Given the description of an element on the screen output the (x, y) to click on. 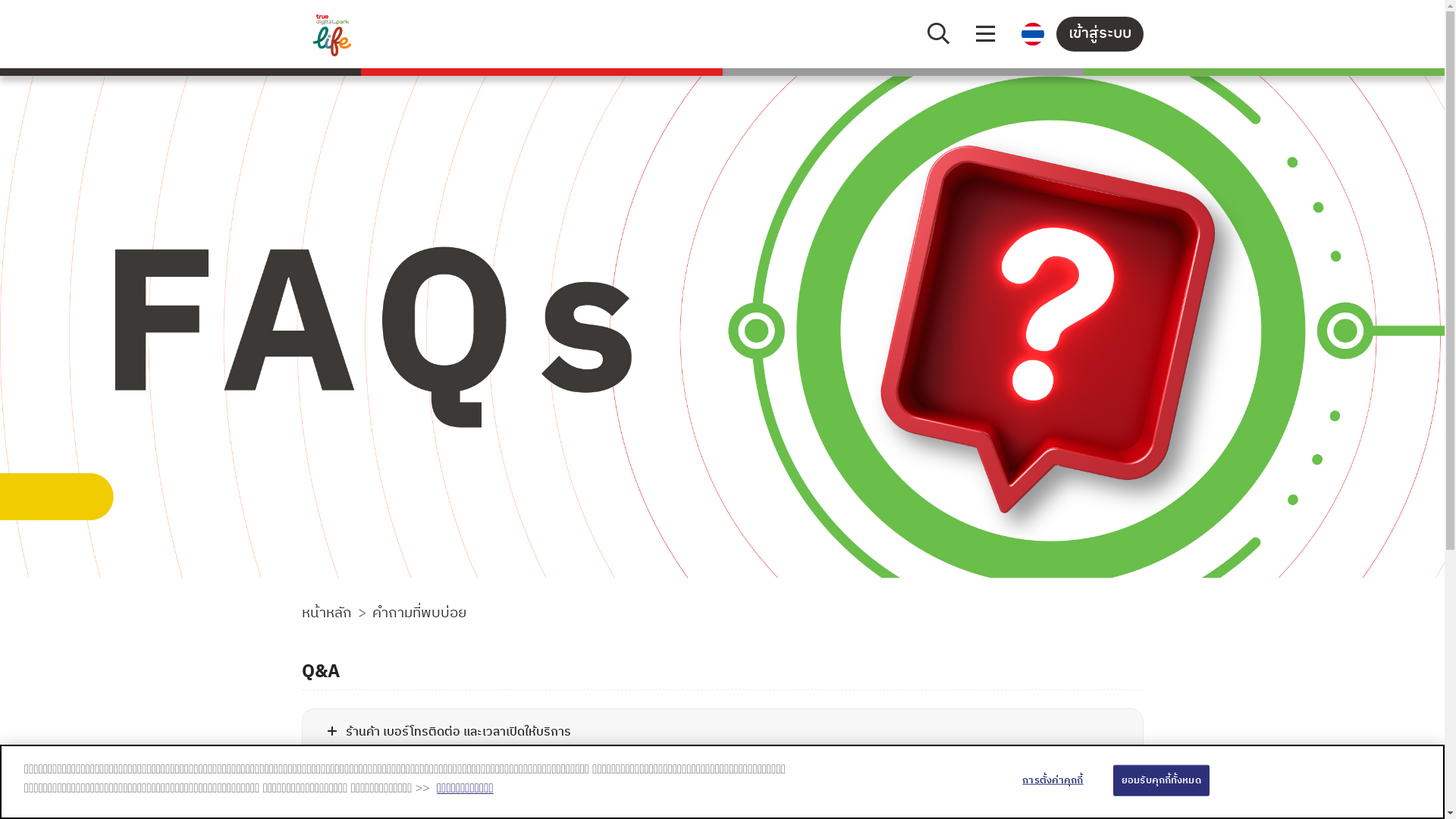
101 True Digital Park Element type: text (398, 33)
